Given the description of an element on the screen output the (x, y) to click on. 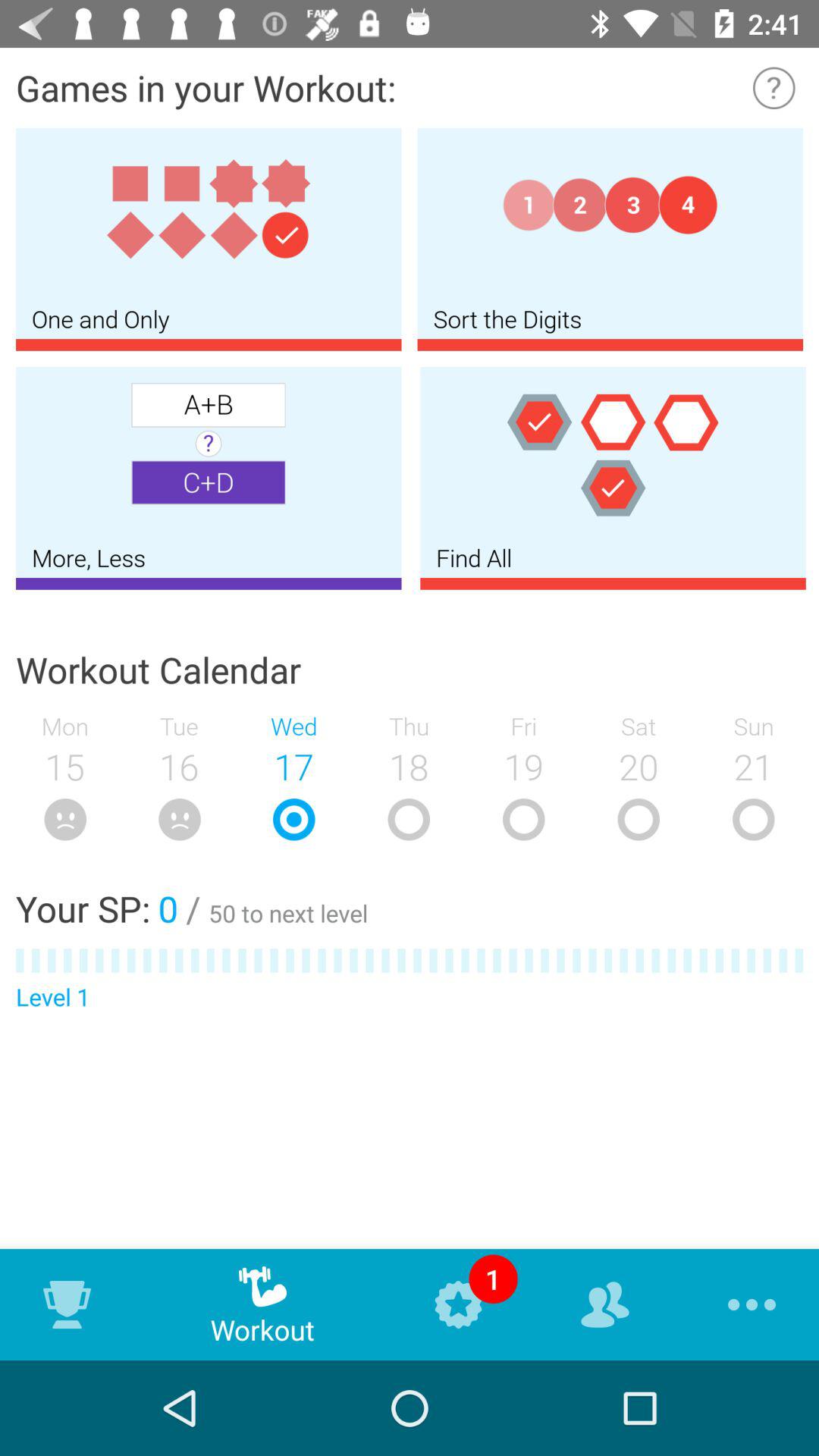
click icon next to the games in your item (774, 87)
